Given the description of an element on the screen output the (x, y) to click on. 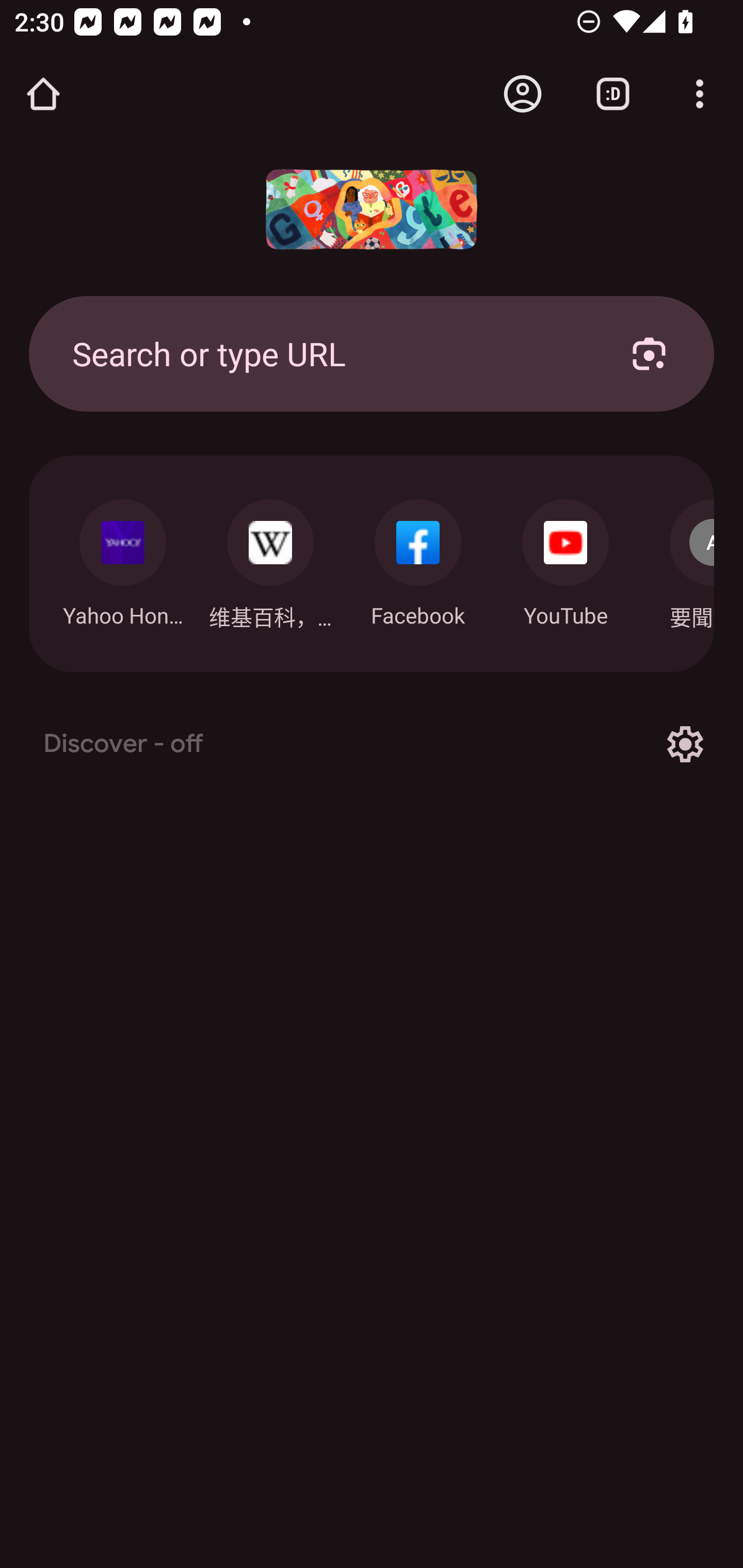
Open the home page (43, 93)
Switch or close tabs (612, 93)
Customize and control Google Chrome (699, 93)
Google doodle: 2024 年國際婦女節 (371, 209)
Search or type URL (327, 353)
Search with your camera using Google Lens (648, 353)
Navigate: Facebook: m.facebook.com Facebook (417, 558)
Navigate: YouTube: m.youtube.com YouTube (565, 558)
Options for Discover (684, 743)
